Given the description of an element on the screen output the (x, y) to click on. 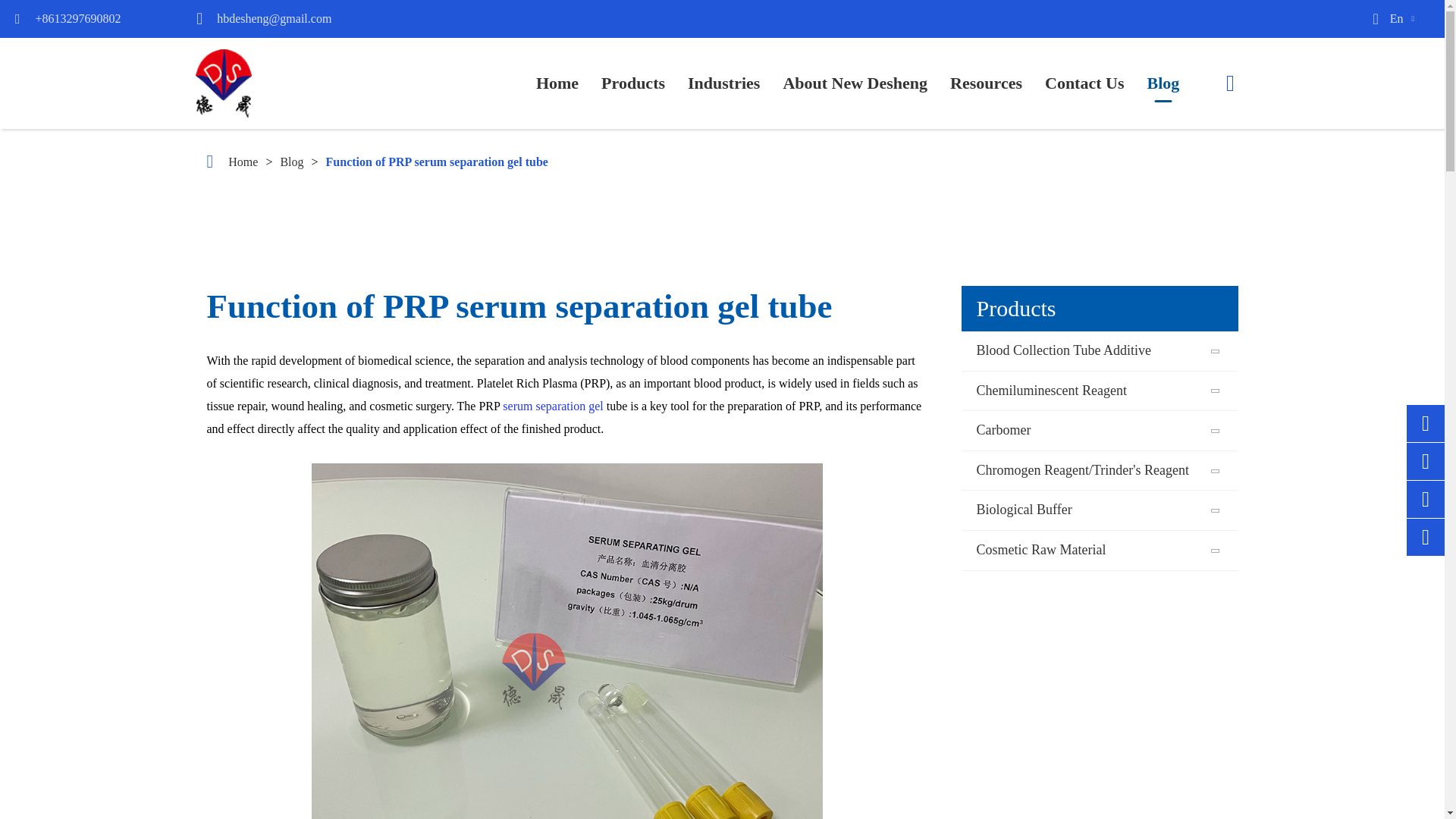
Home (556, 82)
HUBEI NEW DESHENG MATERIALS TECHNOLOGY CO,. LTD. (223, 83)
Products (633, 82)
